Given the description of an element on the screen output the (x, y) to click on. 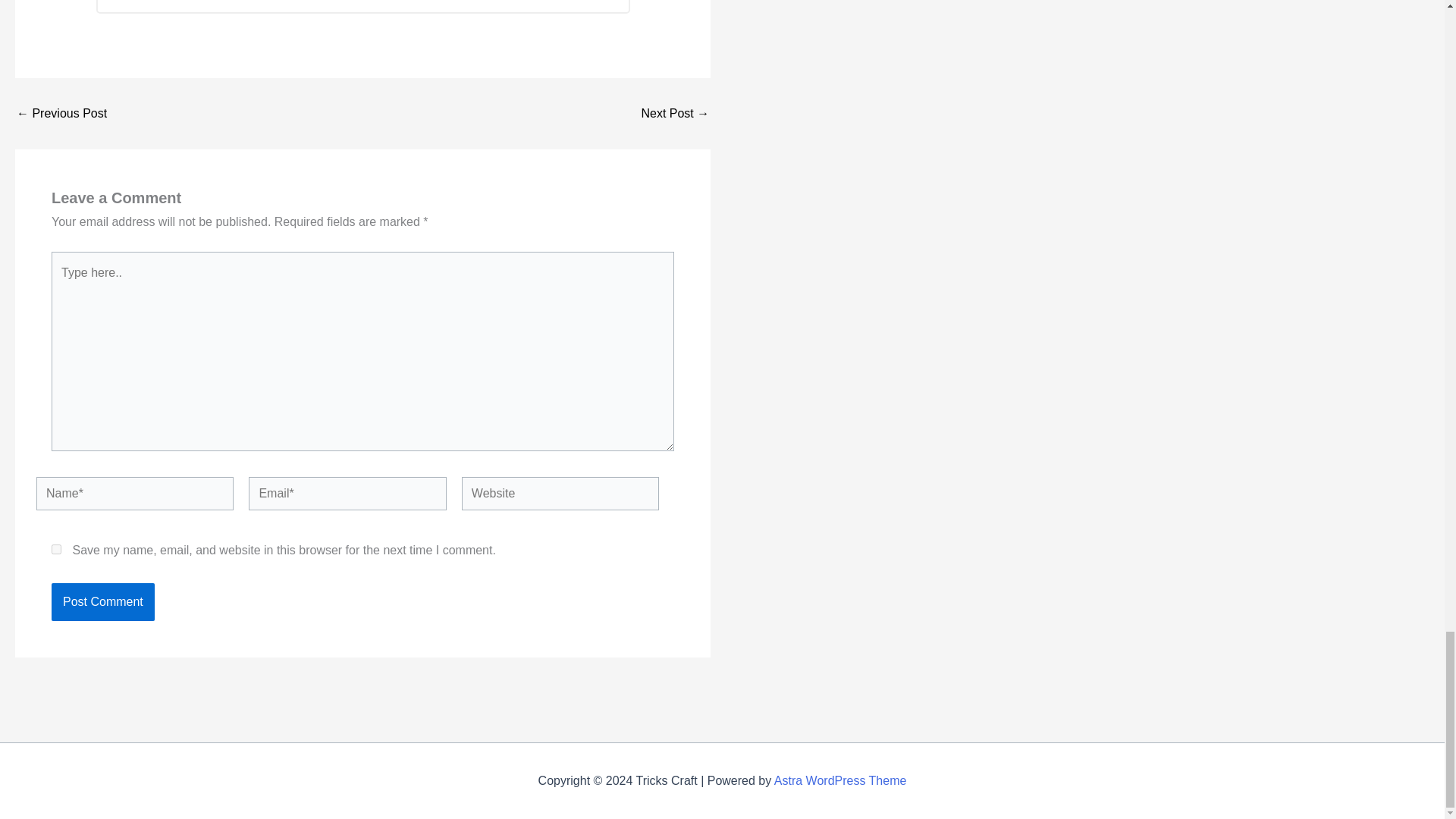
yes (55, 549)
How to disenchant in minecraft (61, 113)
Post Comment (102, 601)
How to make rope in minecraft (674, 113)
Astra WordPress Theme (840, 780)
Post Comment (102, 601)
